Given the description of an element on the screen output the (x, y) to click on. 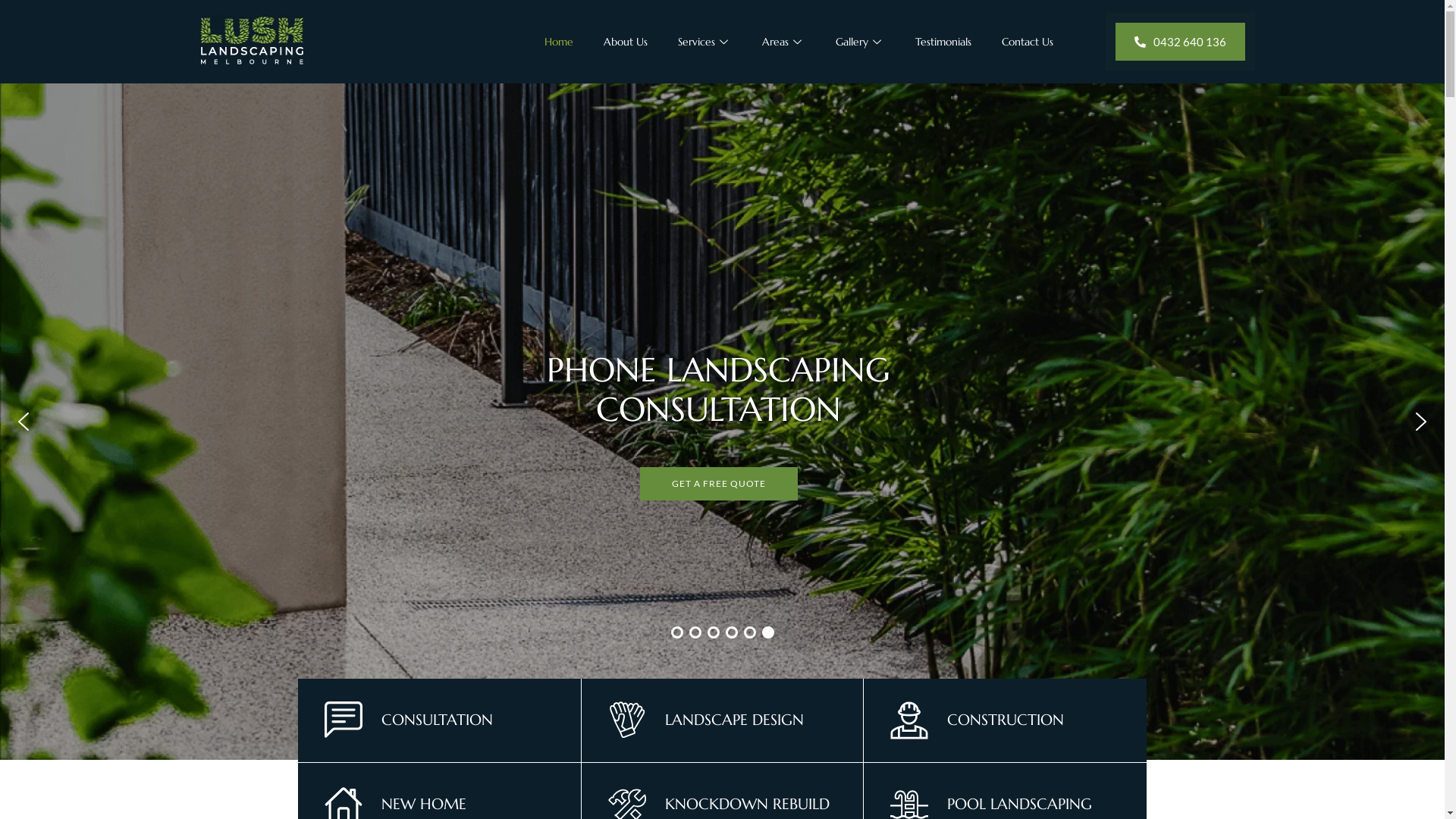
CONSTRUCTION Element type: text (1005, 719)
About Us Element type: text (625, 41)
Home Element type: text (558, 41)
LANDSCAPE DESIGN Element type: text (734, 719)
0432 640 136 Element type: text (1180, 41)
CONSULTATION Element type: text (436, 719)
NEW HOME Element type: text (422, 803)
GET A FREE QUOTE Element type: text (714, 463)
Services Element type: text (704, 41)
POOL LANDSCAPING Element type: text (1019, 803)
Contact Us Element type: text (1027, 41)
Gallery Element type: text (860, 41)
KNOCKDOWN REBUILD Element type: text (747, 803)
Testimonials Element type: text (943, 41)
Areas Element type: text (783, 41)
